Given the description of an element on the screen output the (x, y) to click on. 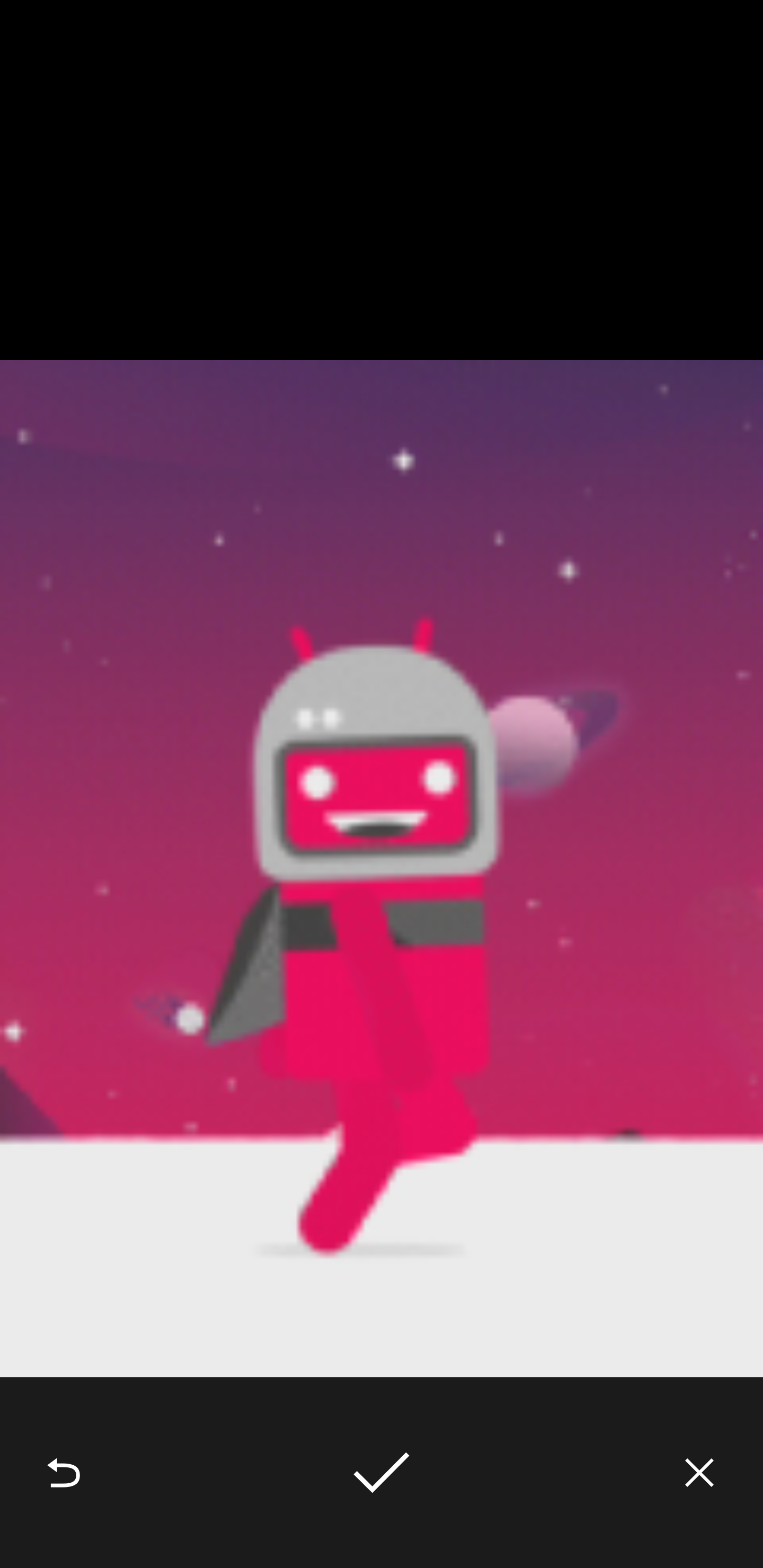
Done (381, 1472)
Retake (63, 1472)
Cancel (699, 1472)
